Given the description of an element on the screen output the (x, y) to click on. 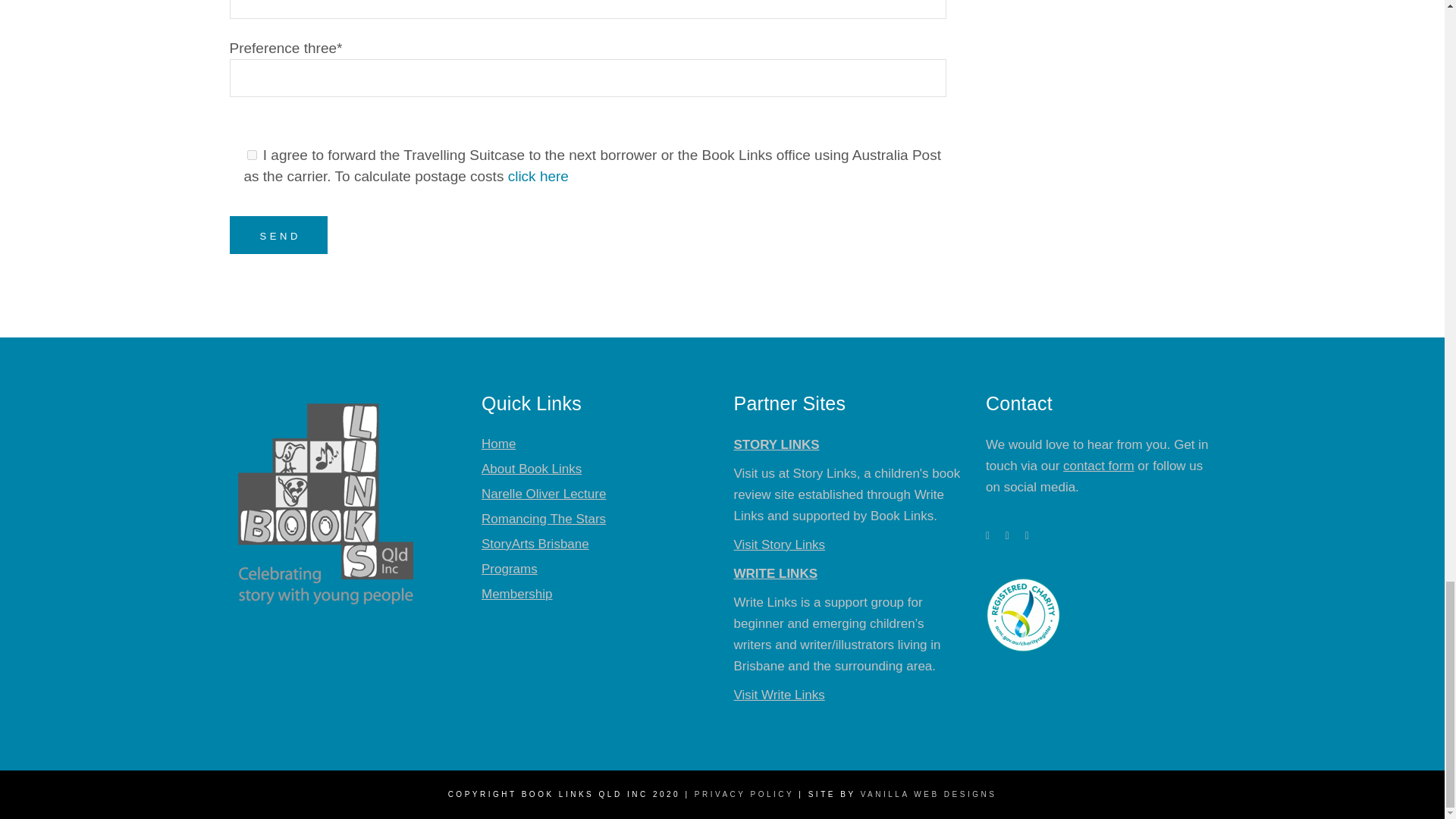
1 (252, 154)
